Given the description of an element on the screen output the (x, y) to click on. 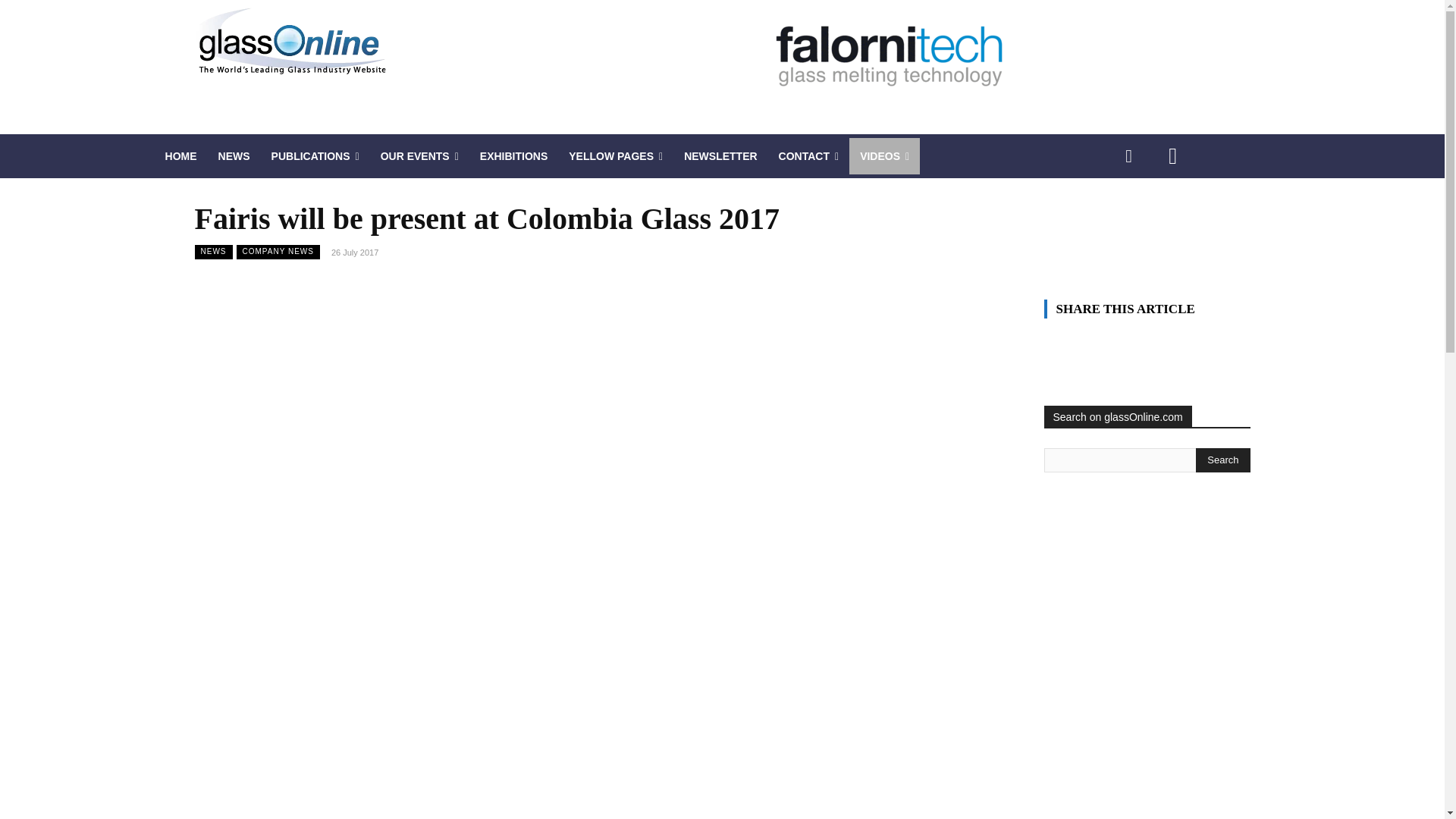
Youtube (1172, 156)
Search (1222, 459)
Linkedin (1128, 156)
